Given the description of an element on the screen output the (x, y) to click on. 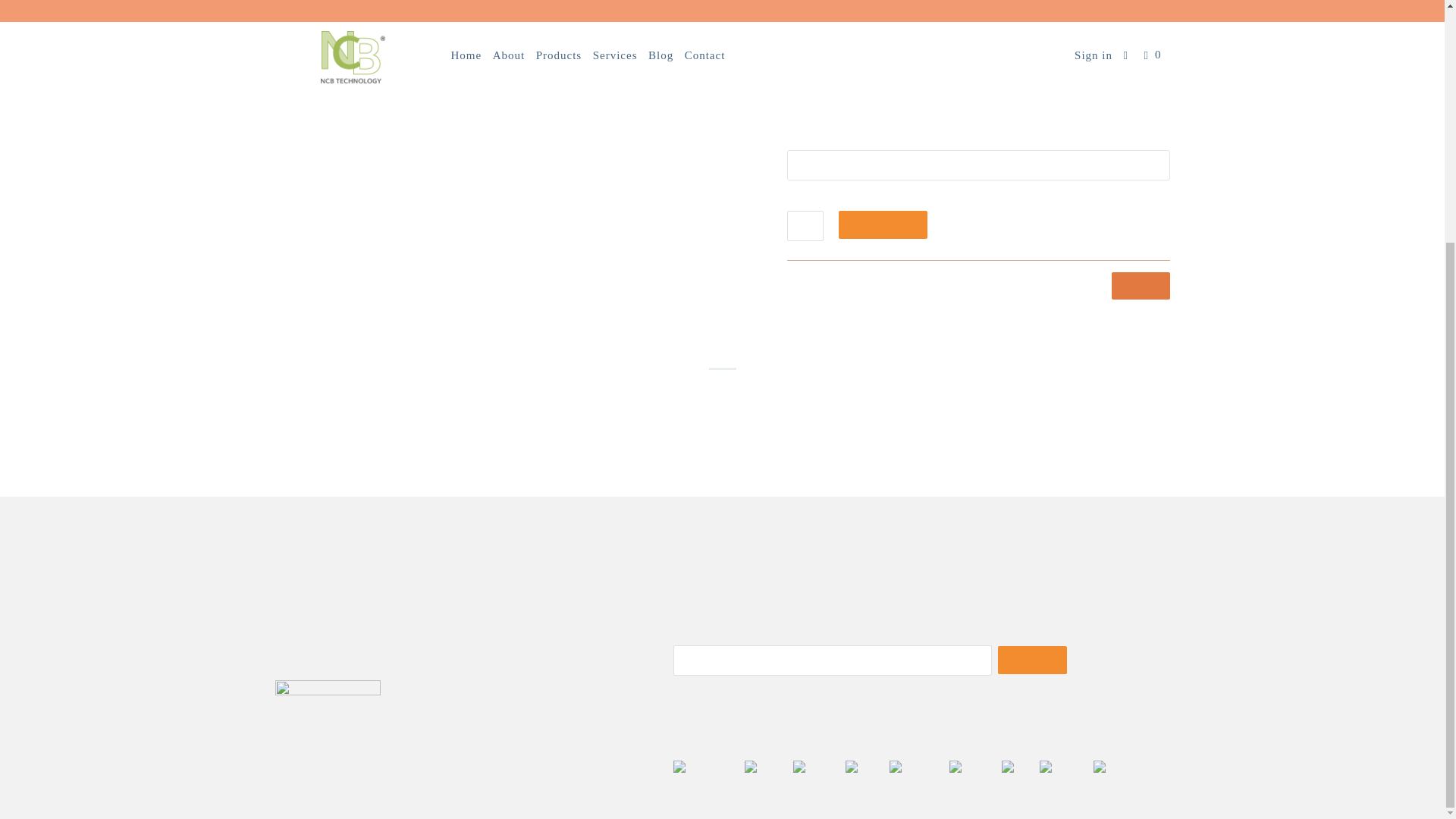
Sign Up (1032, 660)
Special Formula (1016, 278)
Best Sellers (860, 278)
Special Formula (1016, 278)
Best Sellers (860, 278)
1 (805, 225)
Add to Cart (883, 224)
